Given the description of an element on the screen output the (x, y) to click on. 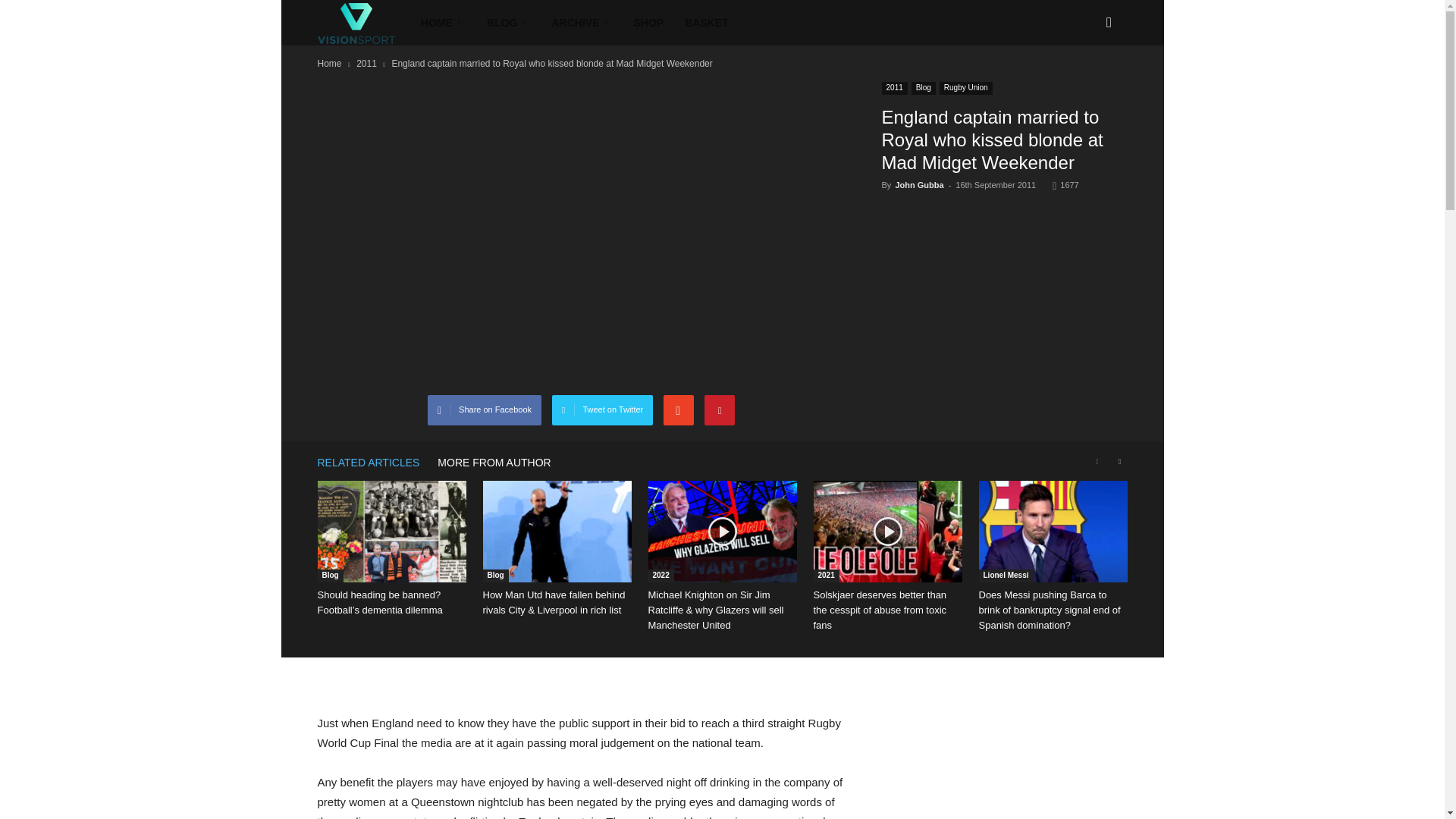
sports channel (355, 22)
